Given the description of an element on the screen output the (x, y) to click on. 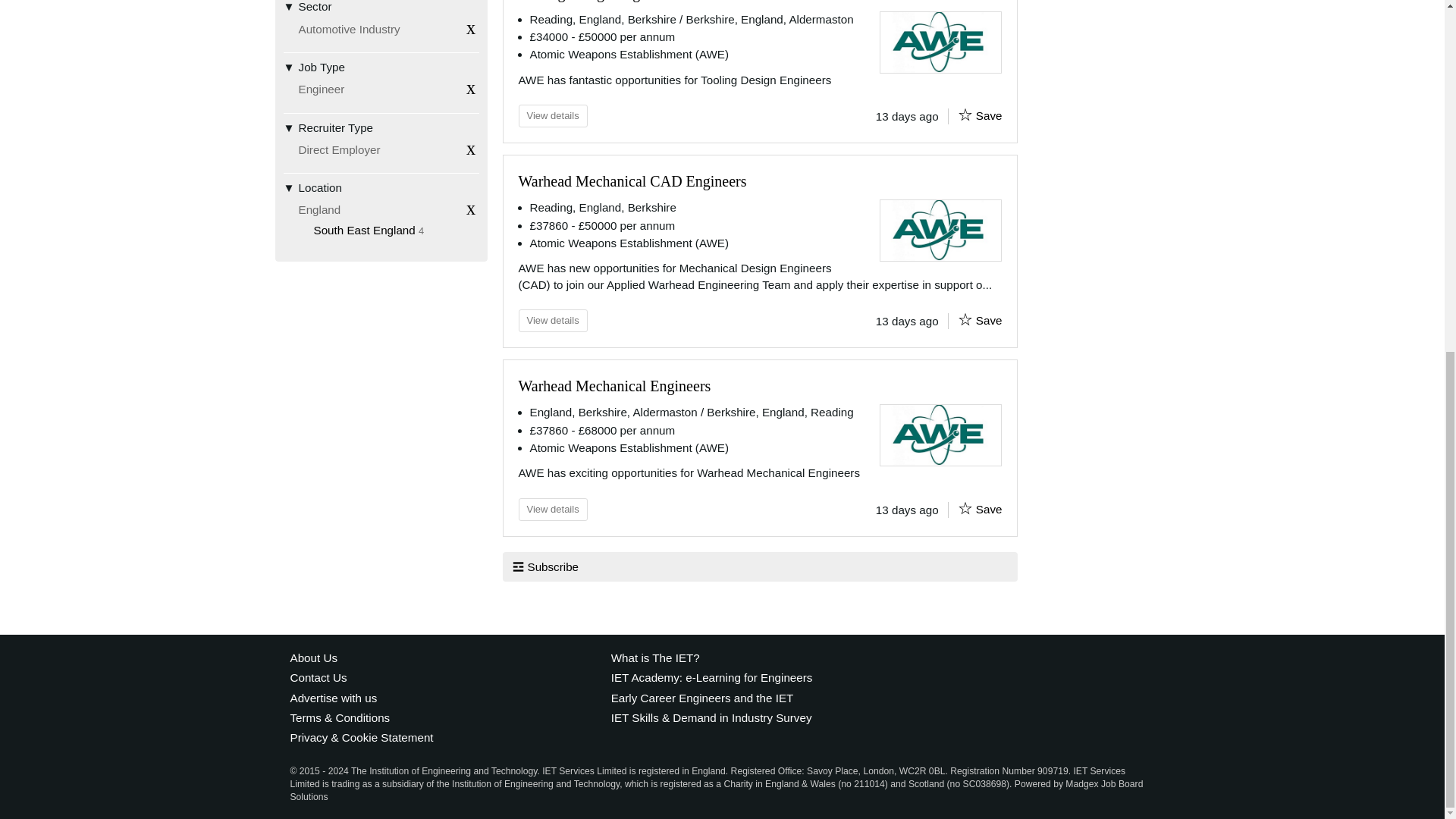
South East England (364, 229)
Add to shortlist (965, 114)
Sector (381, 10)
Add to shortlist (965, 319)
Job Type (381, 66)
Location (381, 186)
Recruiter Type (553, 115)
Add to shortlist (381, 127)
